Given the description of an element on the screen output the (x, y) to click on. 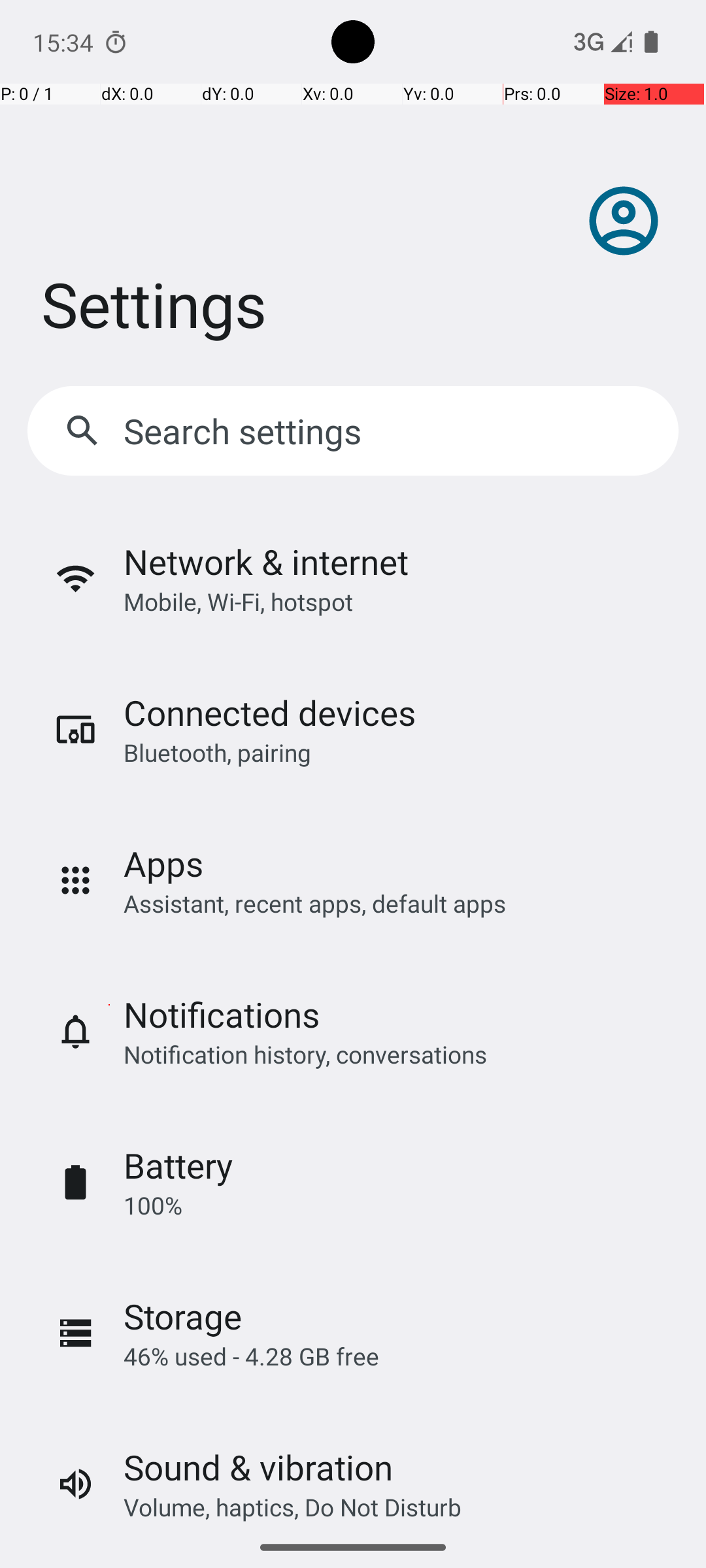
46% used - 4.28 GB free Element type: android.widget.TextView (251, 1355)
